Given the description of an element on the screen output the (x, y) to click on. 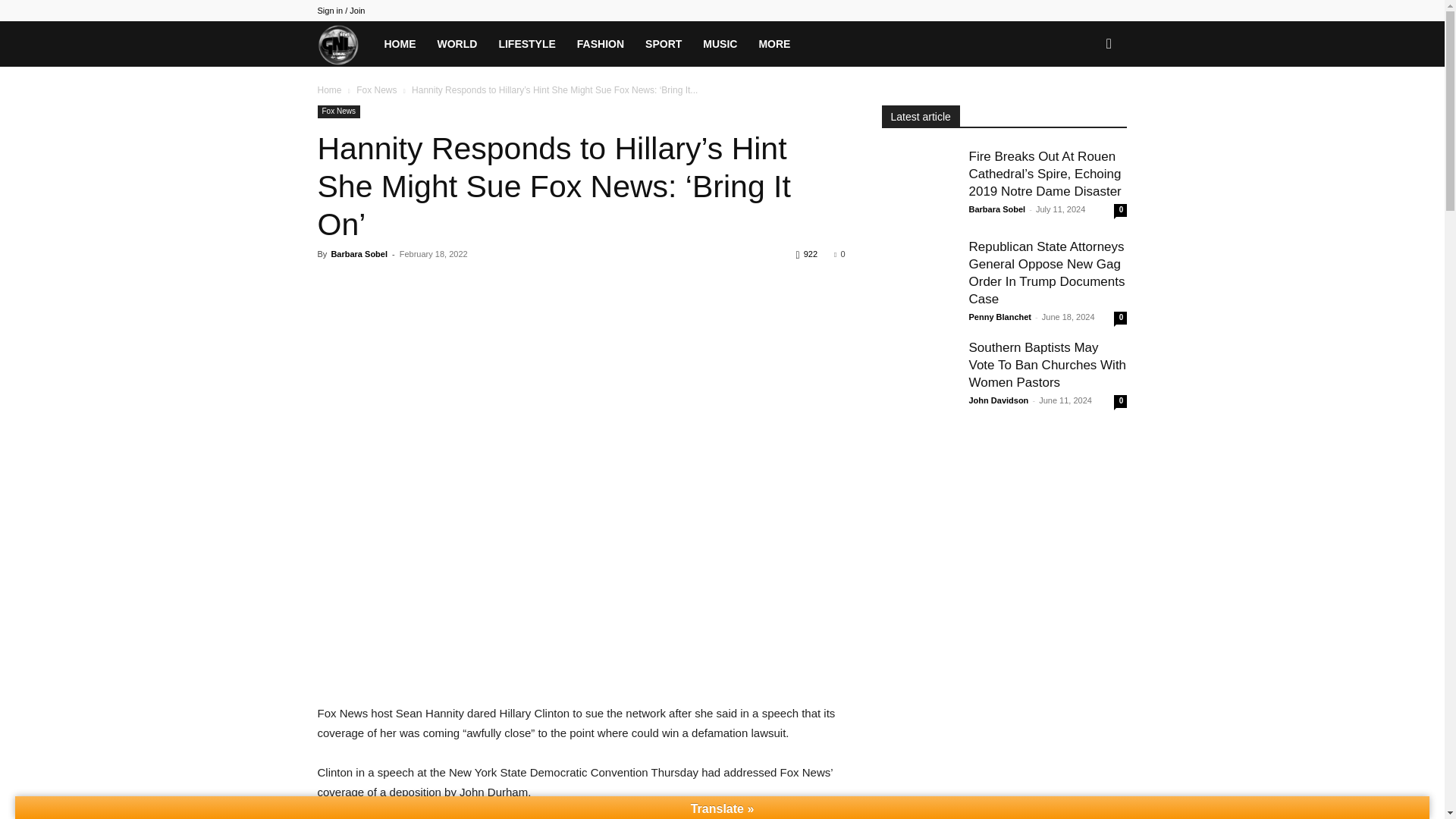
LIFESTYLE (526, 43)
WORLD (456, 43)
Global News Ink (344, 43)
HOME (399, 43)
